Given the description of an element on the screen output the (x, y) to click on. 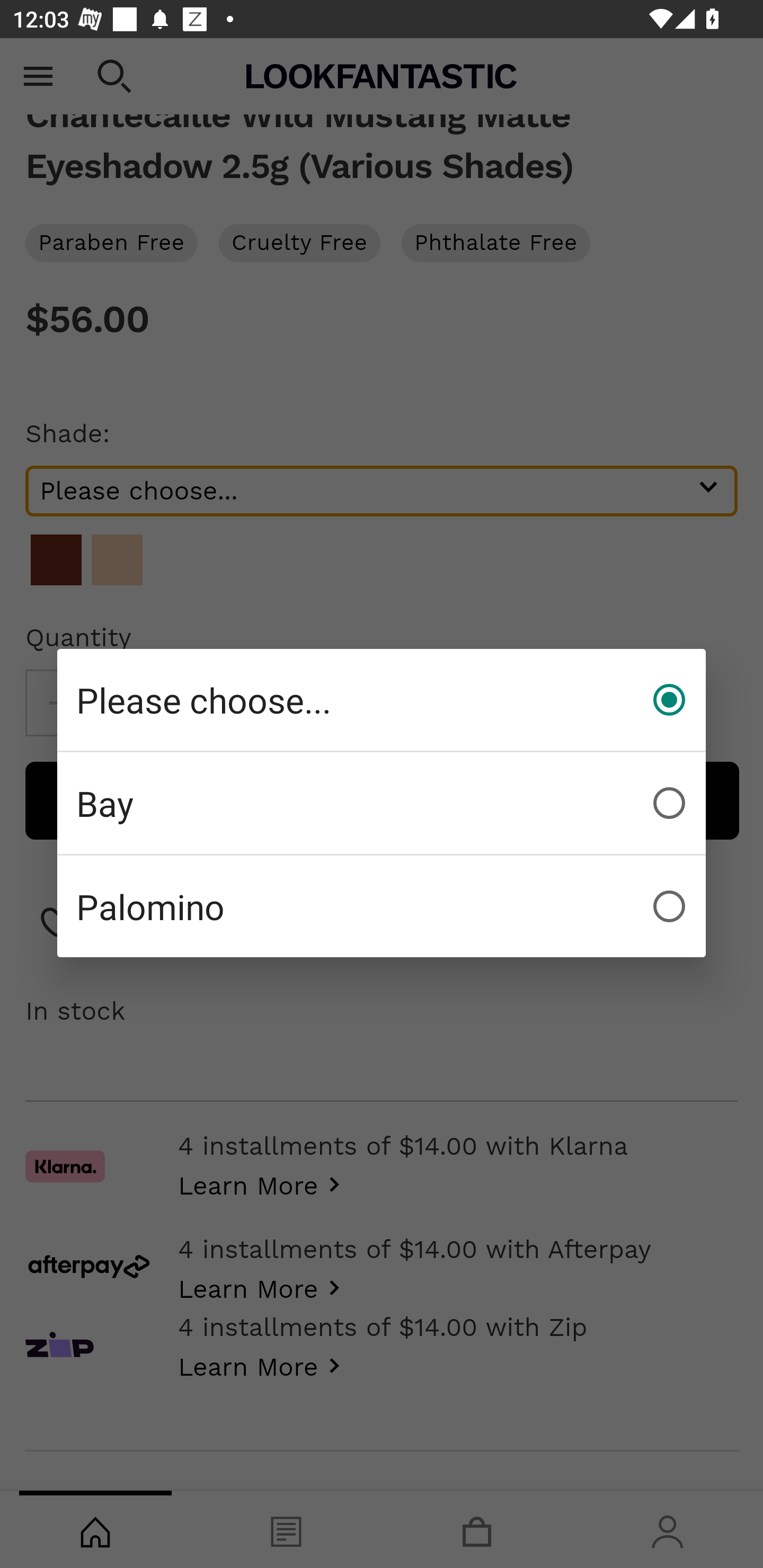
Please choose... (381, 700)
Bay (381, 803)
Palomino (381, 906)
